Given the description of an element on the screen output the (x, y) to click on. 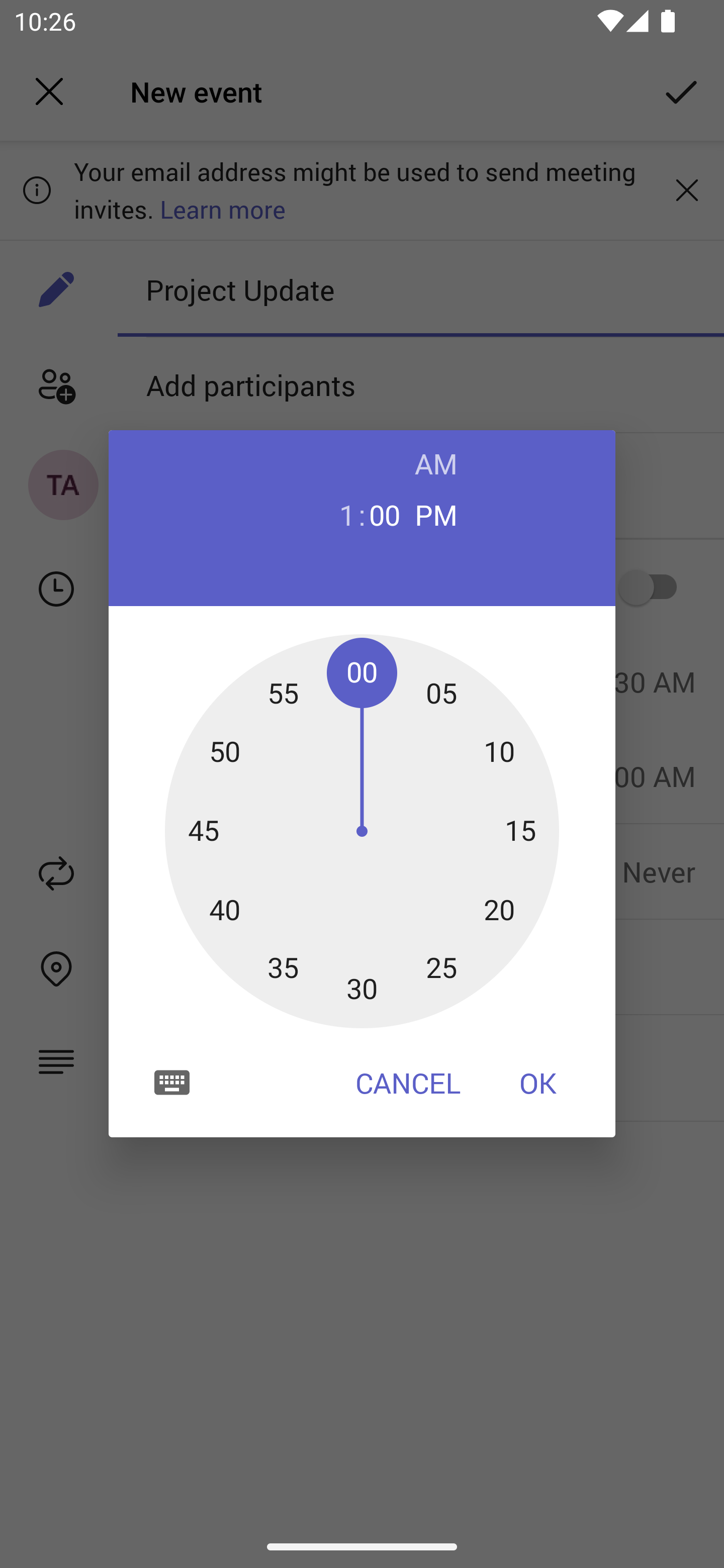
AM (435, 463)
PM (435, 514)
1 (338, 514)
00 (384, 514)
CANCEL (407, 1082)
OK (537, 1082)
Switch to text input mode for the time input. (171, 1081)
